Given the description of an element on the screen output the (x, y) to click on. 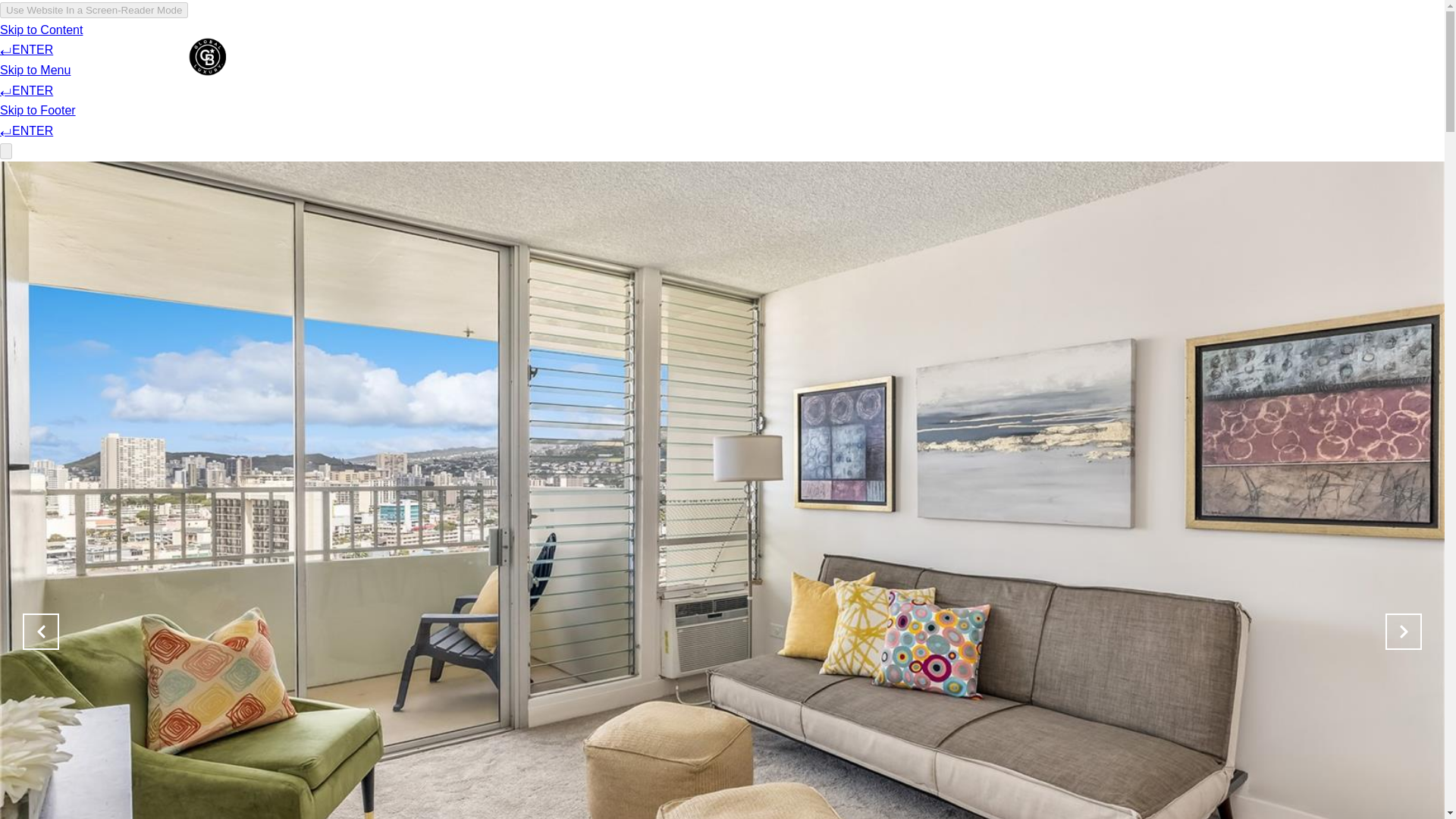
LET'S CONNECT (1046, 55)
PORTFOLIO (839, 55)
HOME SEARCH (936, 55)
